Given the description of an element on the screen output the (x, y) to click on. 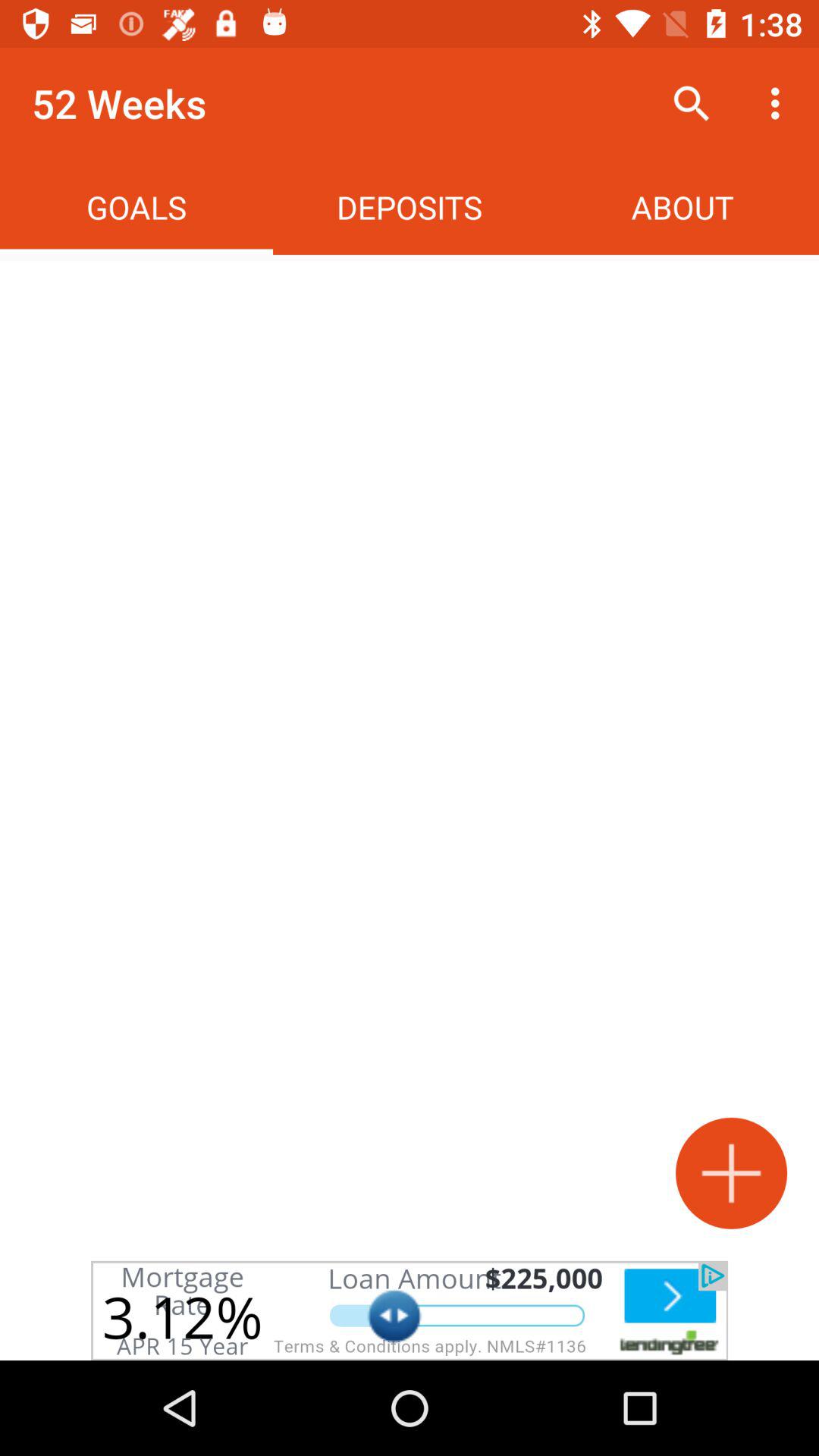
advertisement (409, 1310)
